Given the description of an element on the screen output the (x, y) to click on. 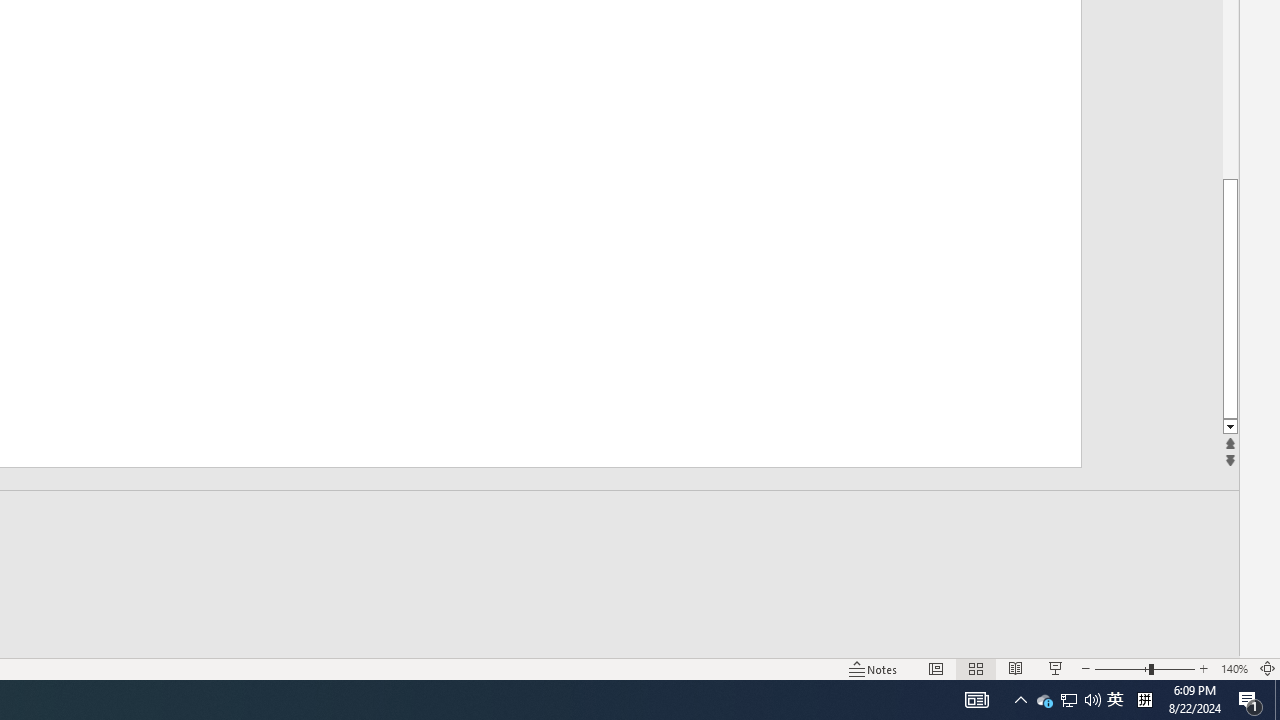
Zoom 140% (1234, 668)
